Given the description of an element on the screen output the (x, y) to click on. 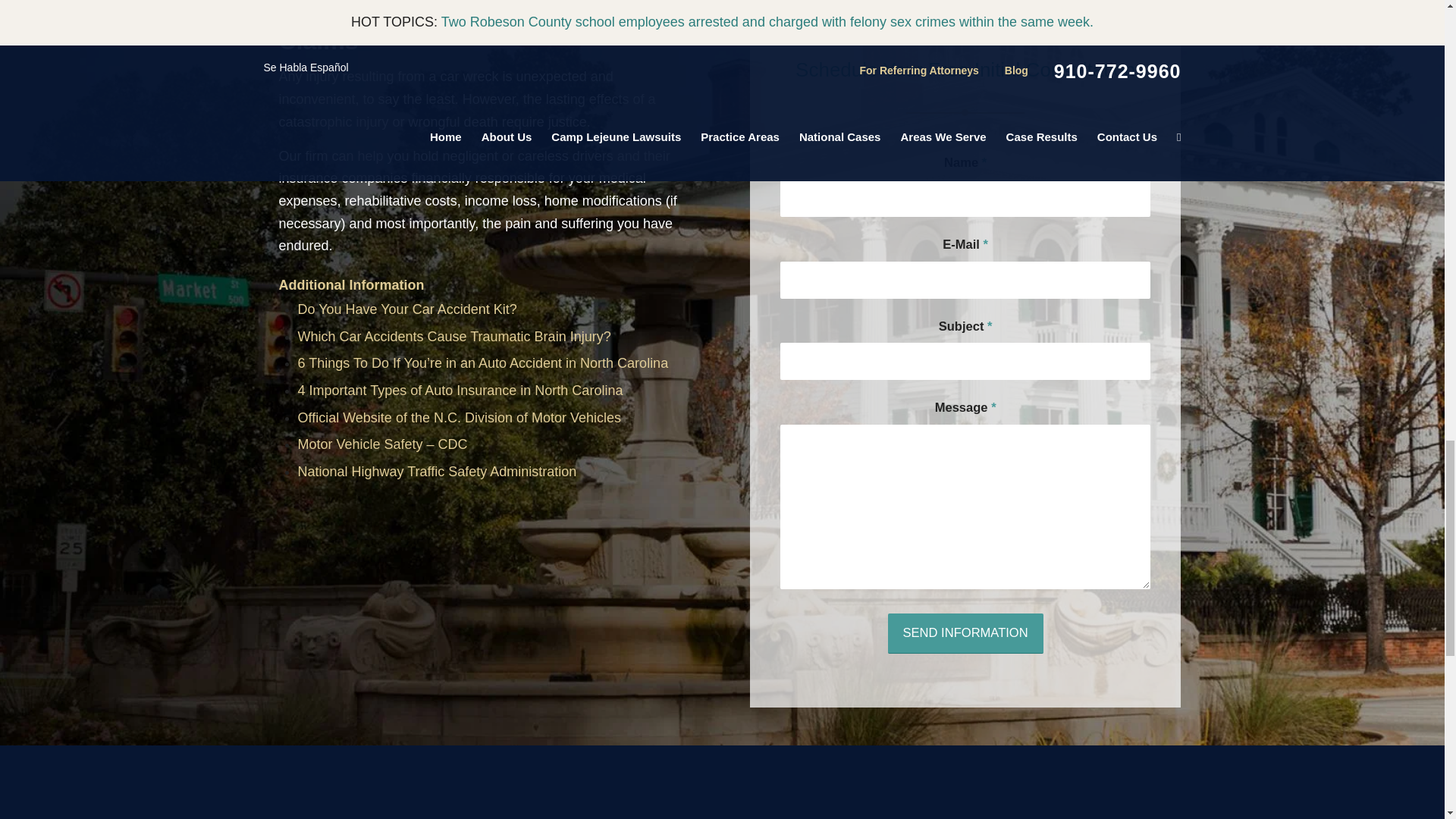
SEND INFORMATION (965, 633)
